Given the description of an element on the screen output the (x, y) to click on. 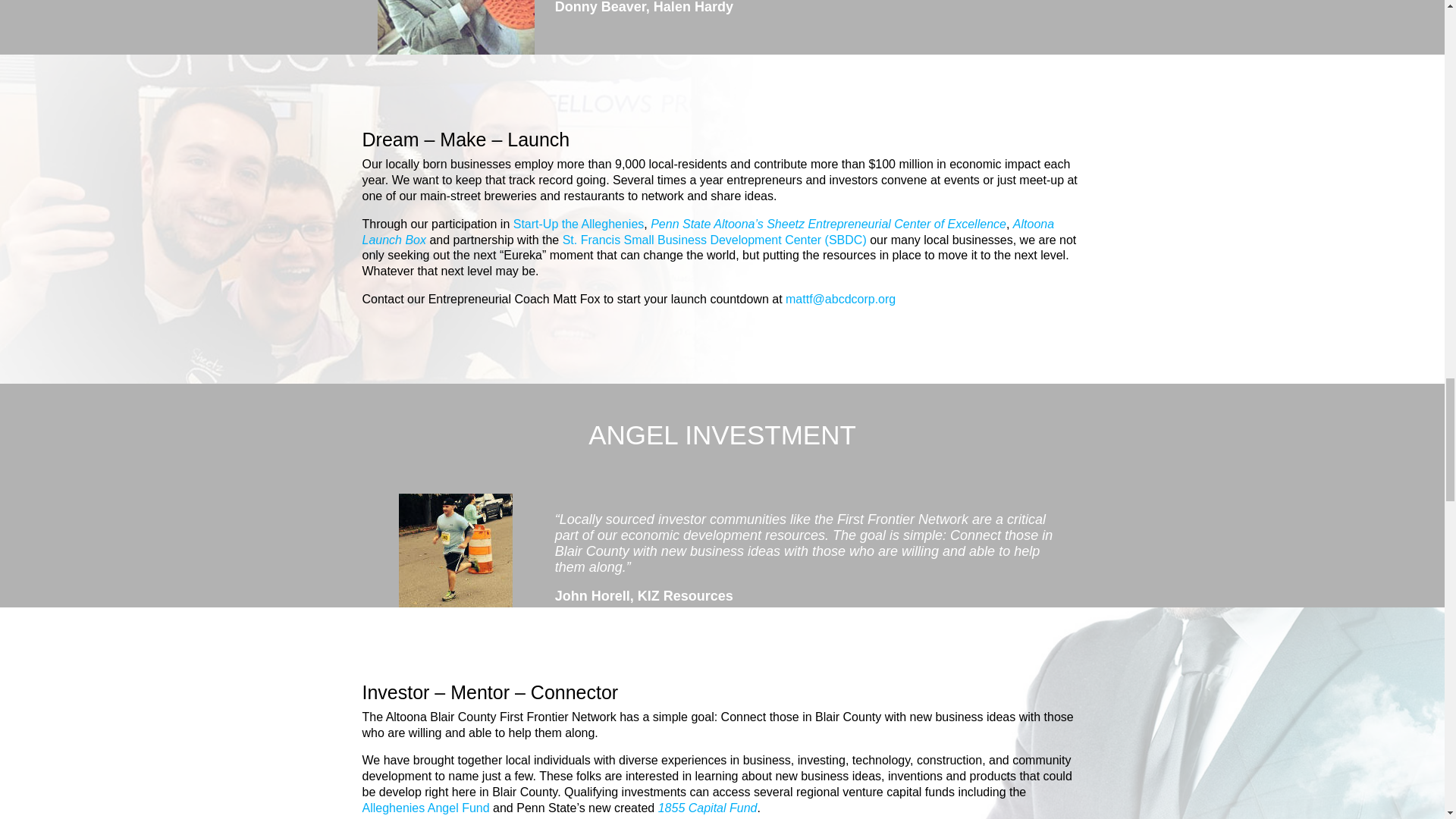
Altoona Launch Box (708, 231)
Start-Up the Alleghenies (579, 223)
